Given the description of an element on the screen output the (x, y) to click on. 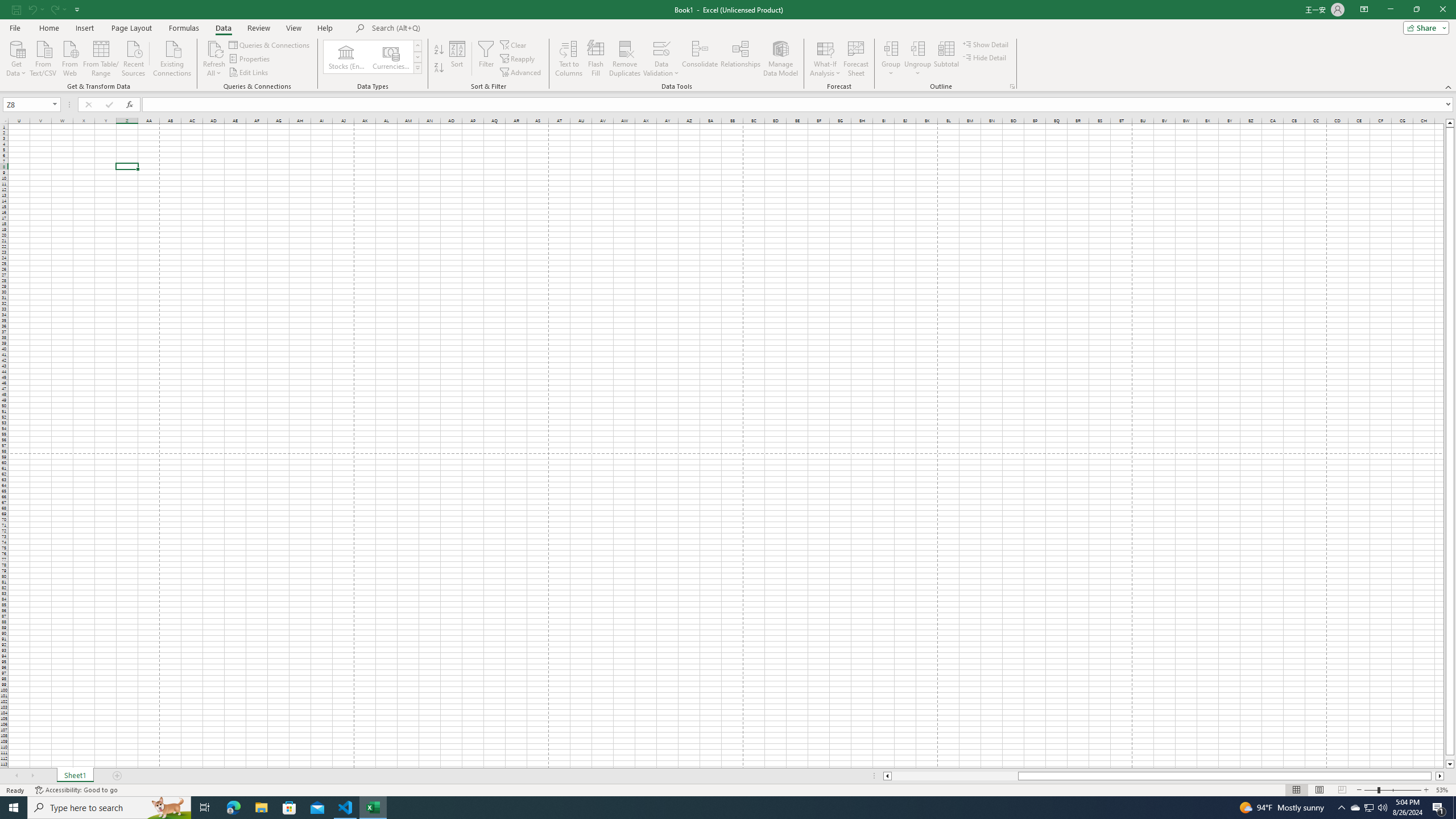
Existing Connections (171, 57)
From Table/Range (100, 57)
Class: NetUIImage (418, 68)
Relationships (740, 58)
What-If Analysis (825, 58)
Properties (250, 58)
From Text/CSV (43, 57)
Advanced... (520, 72)
